Given the description of an element on the screen output the (x, y) to click on. 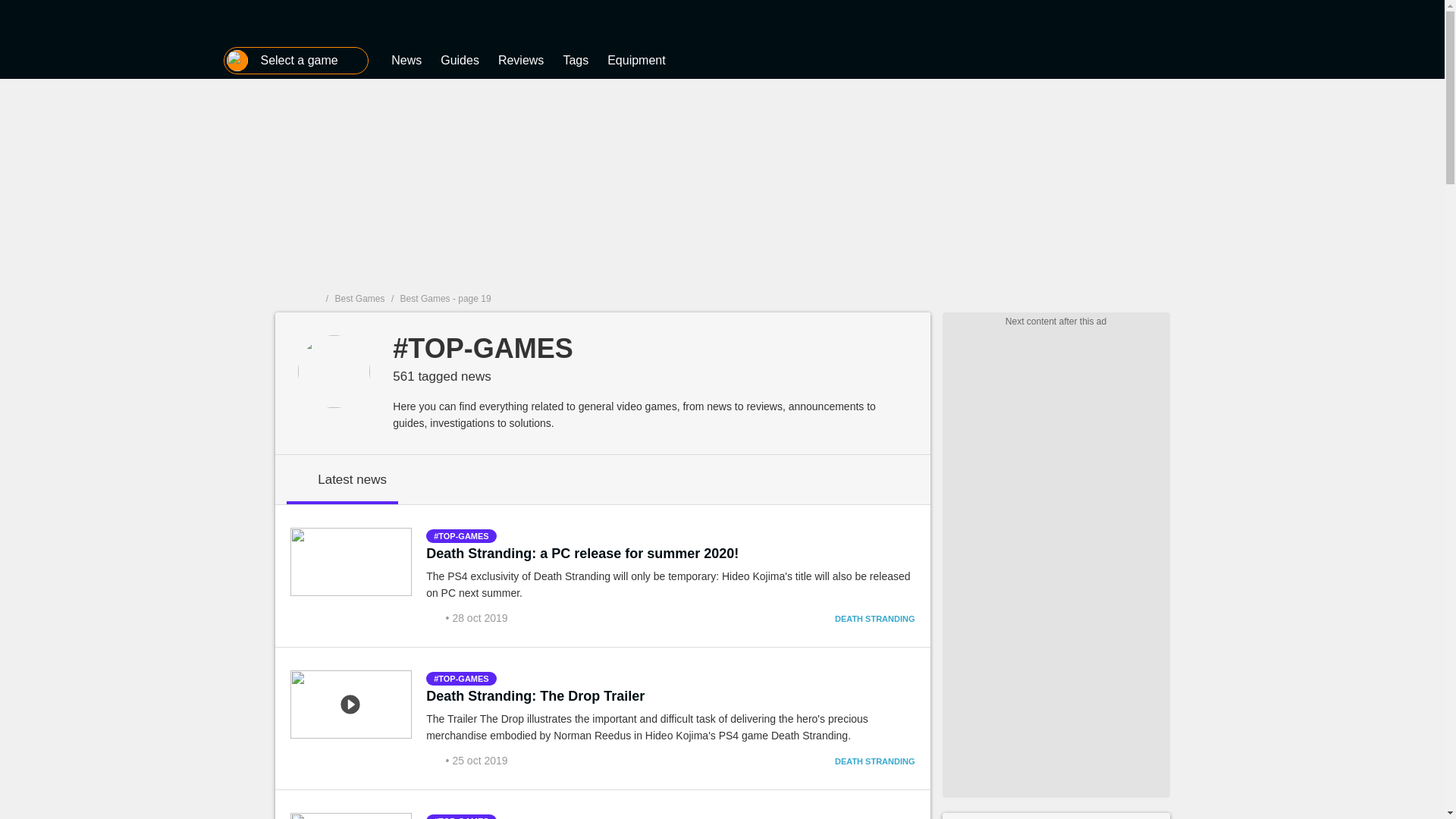
Death Stranding: The Drop Trailer (535, 695)
DEATH STRANDING (874, 618)
Best Games (359, 298)
Select a game (296, 60)
Death Stranding: a PC release for summer 2020! (582, 553)
